Given the description of an element on the screen output the (x, y) to click on. 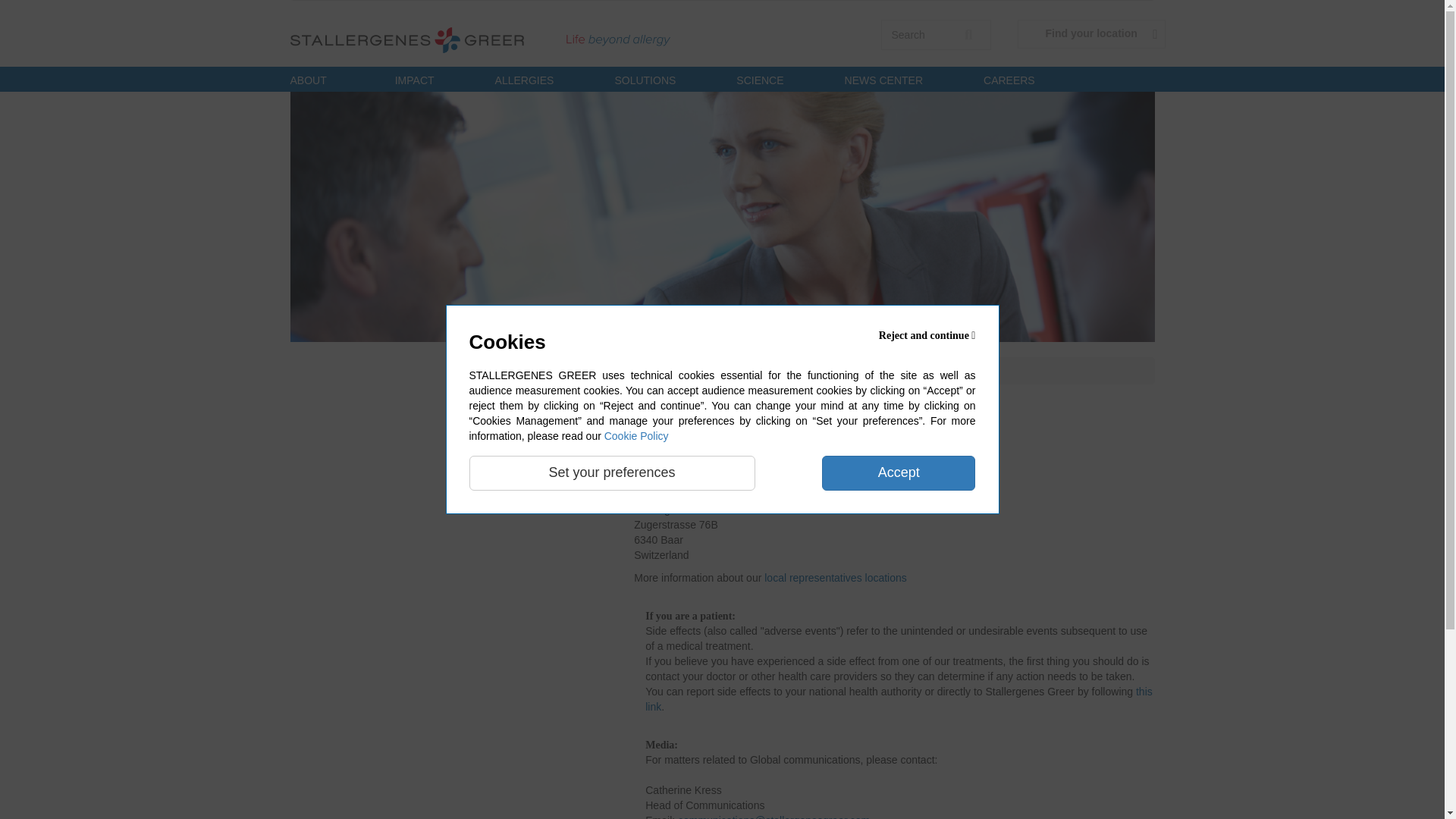
ALLERGIES (524, 78)
NEWS CENTER (883, 78)
IMPACT (414, 78)
Home (512, 36)
CAREERS (1009, 78)
ABOUT (322, 78)
SOLUTIONS (644, 78)
Search for: (935, 34)
SCIENCE (759, 78)
